Given the description of an element on the screen output the (x, y) to click on. 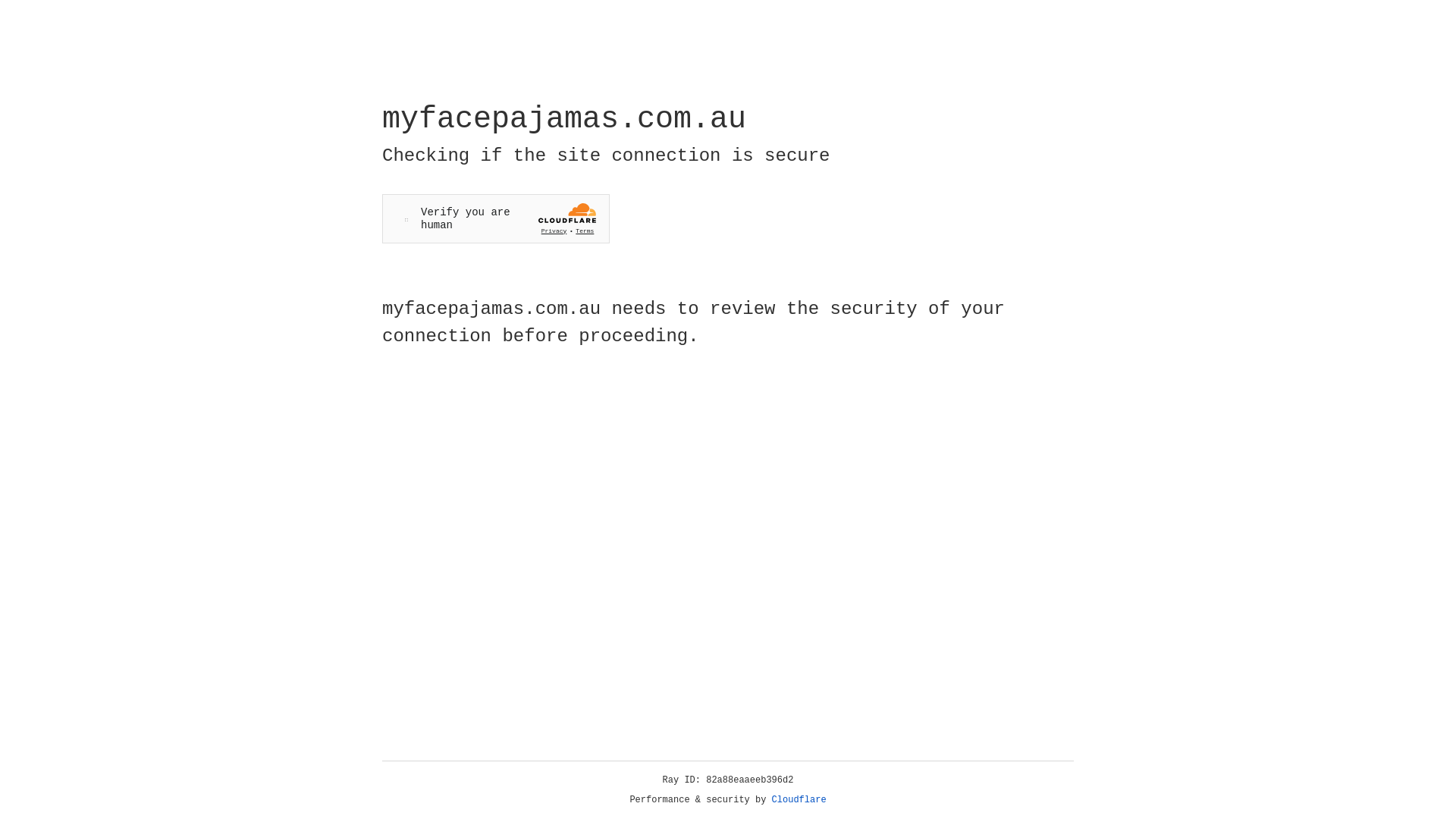
Widget containing a Cloudflare security challenge Element type: hover (495, 218)
Cloudflare Element type: text (798, 799)
